Given the description of an element on the screen output the (x, y) to click on. 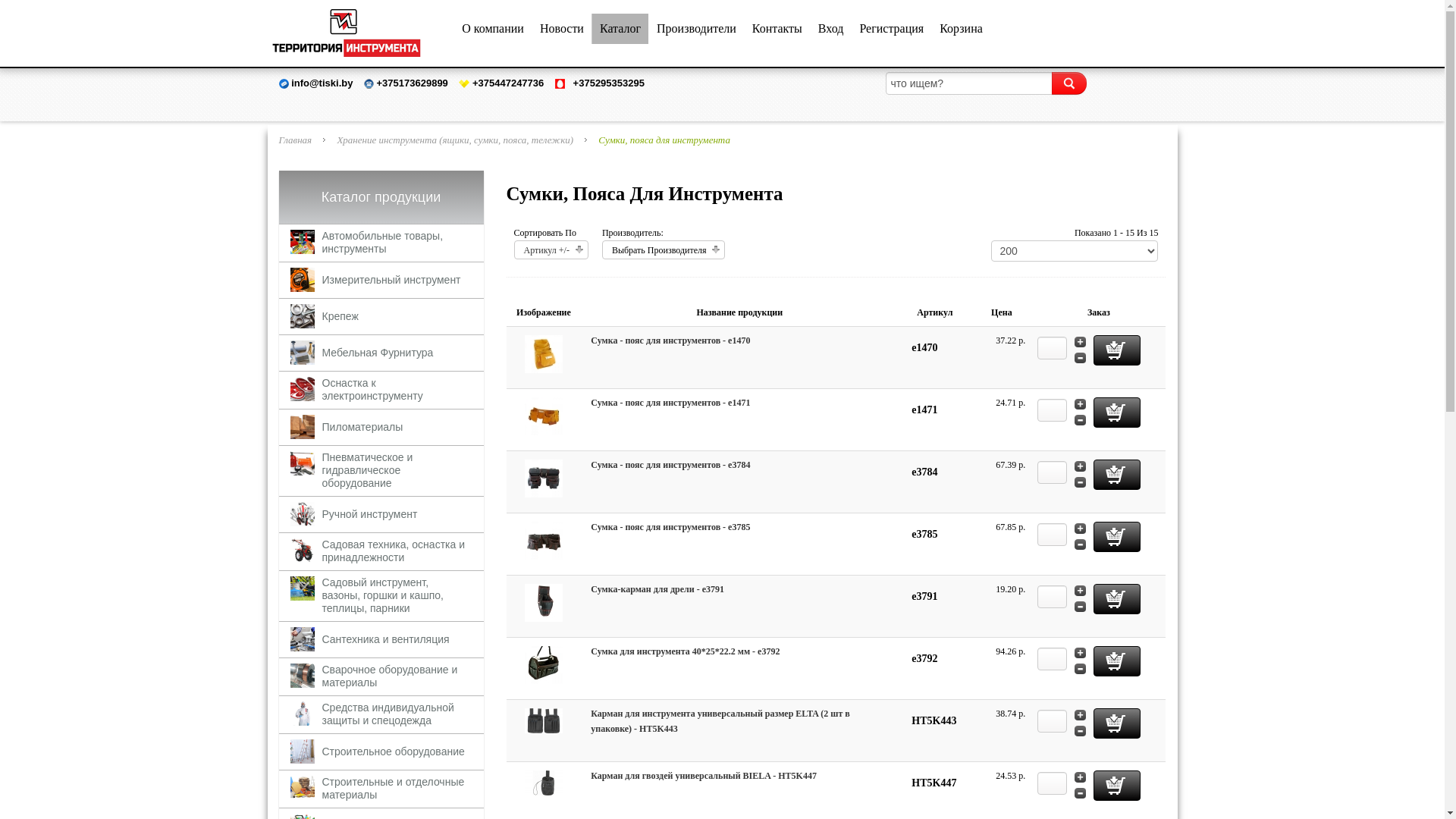
e3791 Element type: hover (543, 601)
ht5k443 Element type: hover (543, 719)
e3785 Element type: hover (543, 539)
e3784 Element type: hover (543, 477)
e3792 Element type: hover (543, 663)
e1471 Element type: hover (543, 415)
ht5k447 Element type: hover (543, 781)
Search Element type: text (1068, 83)
e1470 Element type: hover (543, 353)
